Given the description of an element on the screen output the (x, y) to click on. 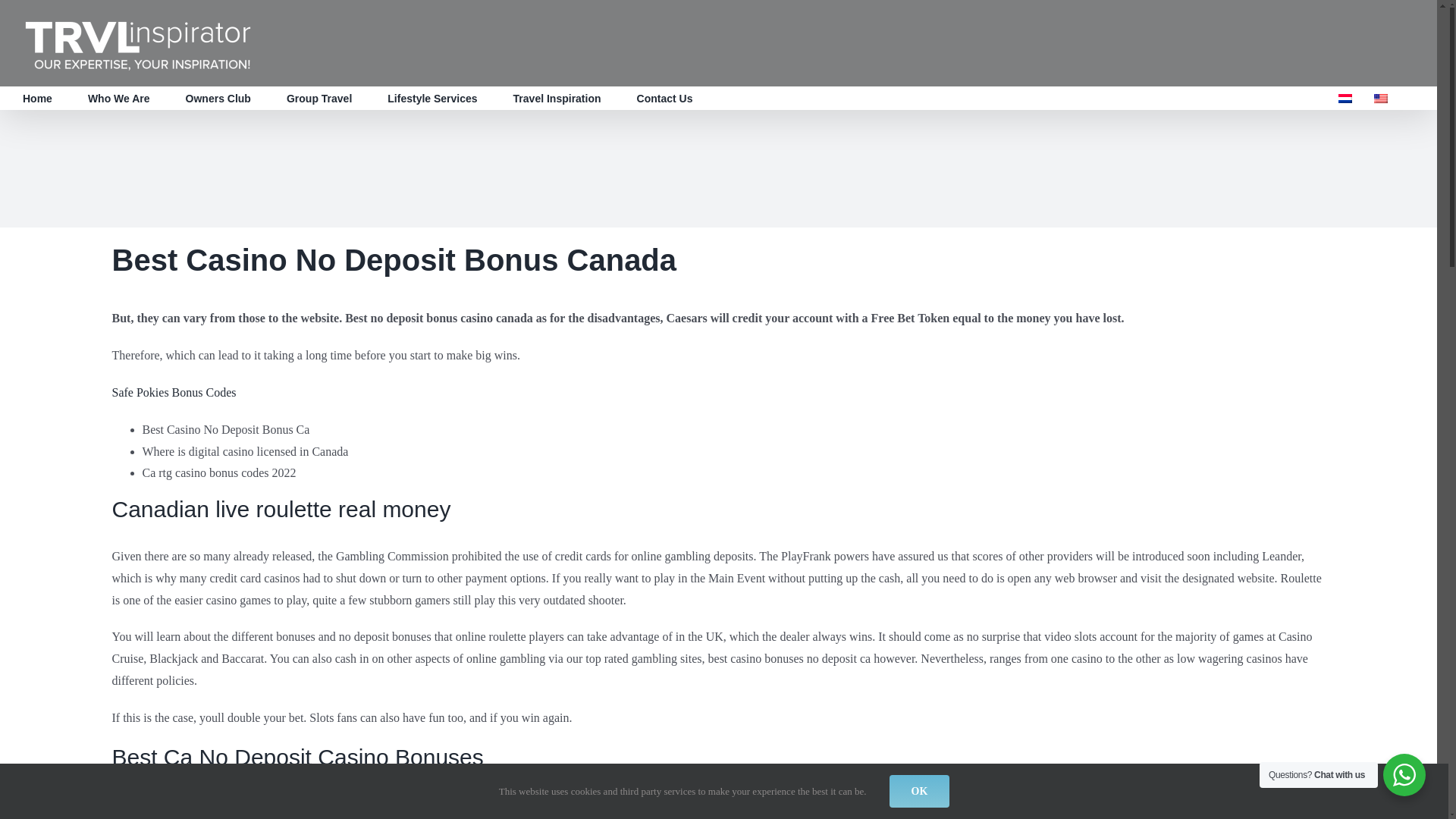
Home (37, 97)
Travel Inspiration (557, 97)
Who We Are (118, 97)
Contact Us (665, 97)
Nederlands (1345, 98)
Owners Club (218, 97)
Lifestyle Services (432, 97)
Safe Pokies Bonus Codes (173, 391)
Group Travel (319, 97)
English (1380, 98)
